Given the description of an element on the screen output the (x, y) to click on. 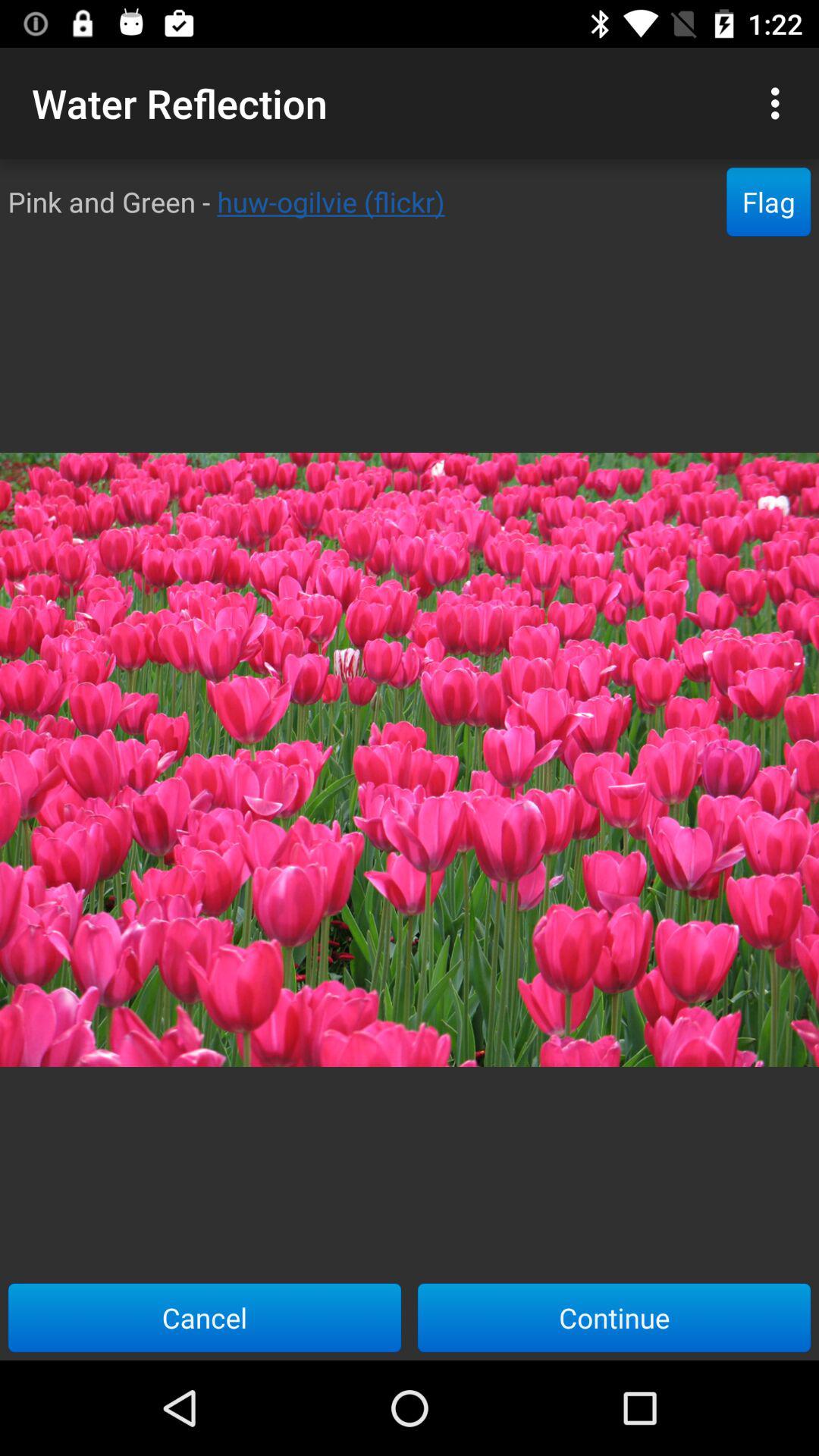
turn on continue icon (614, 1317)
